Given the description of an element on the screen output the (x, y) to click on. 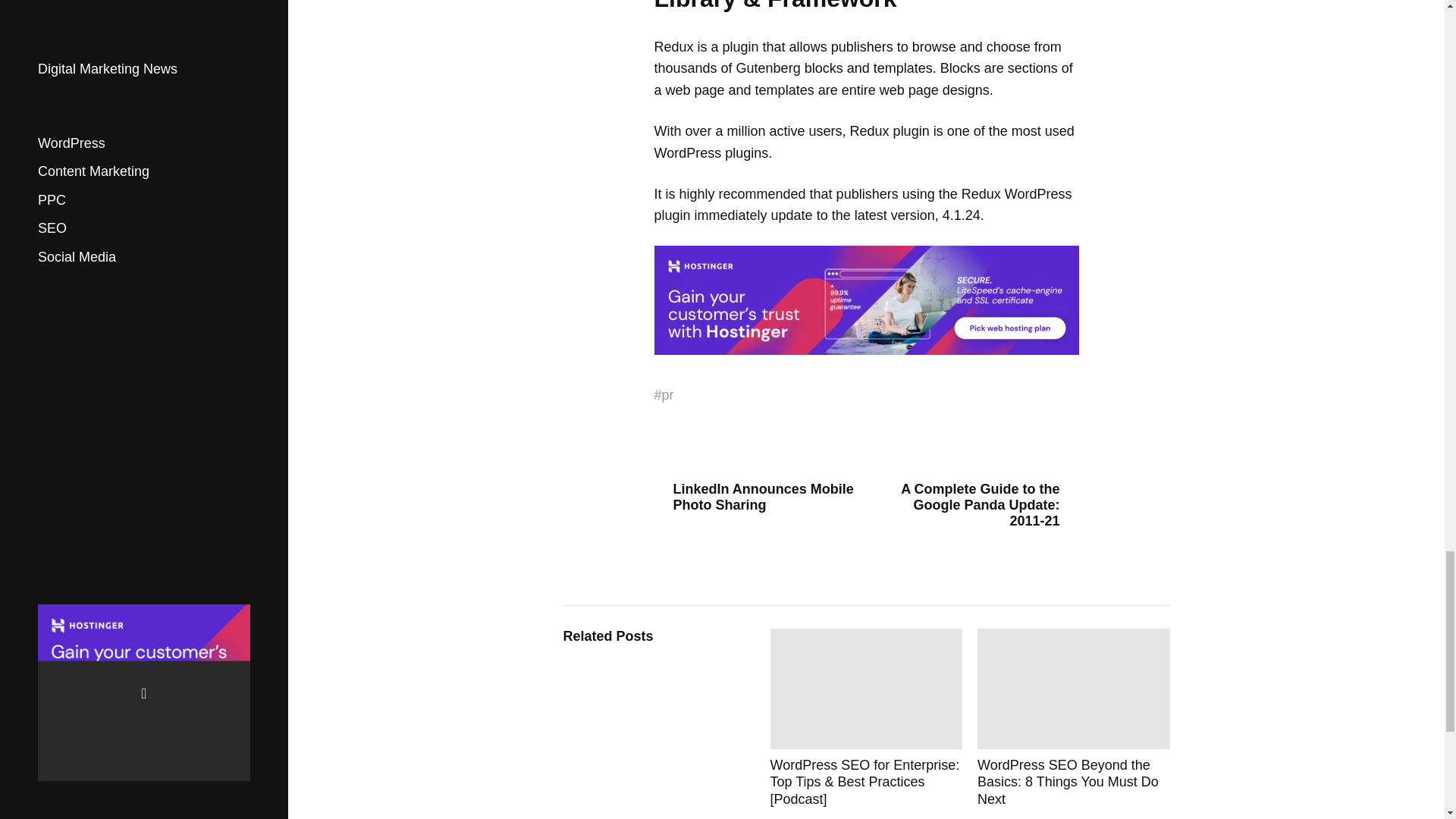
LinkedIn Announces Mobile Photo Sharing (753, 497)
A Complete Guide to the Google Panda Update: 2011-21 (977, 505)
WordPress SEO Beyond the Basics: 8 Things You Must Do Next (1073, 717)
pr (668, 395)
